Given the description of an element on the screen output the (x, y) to click on. 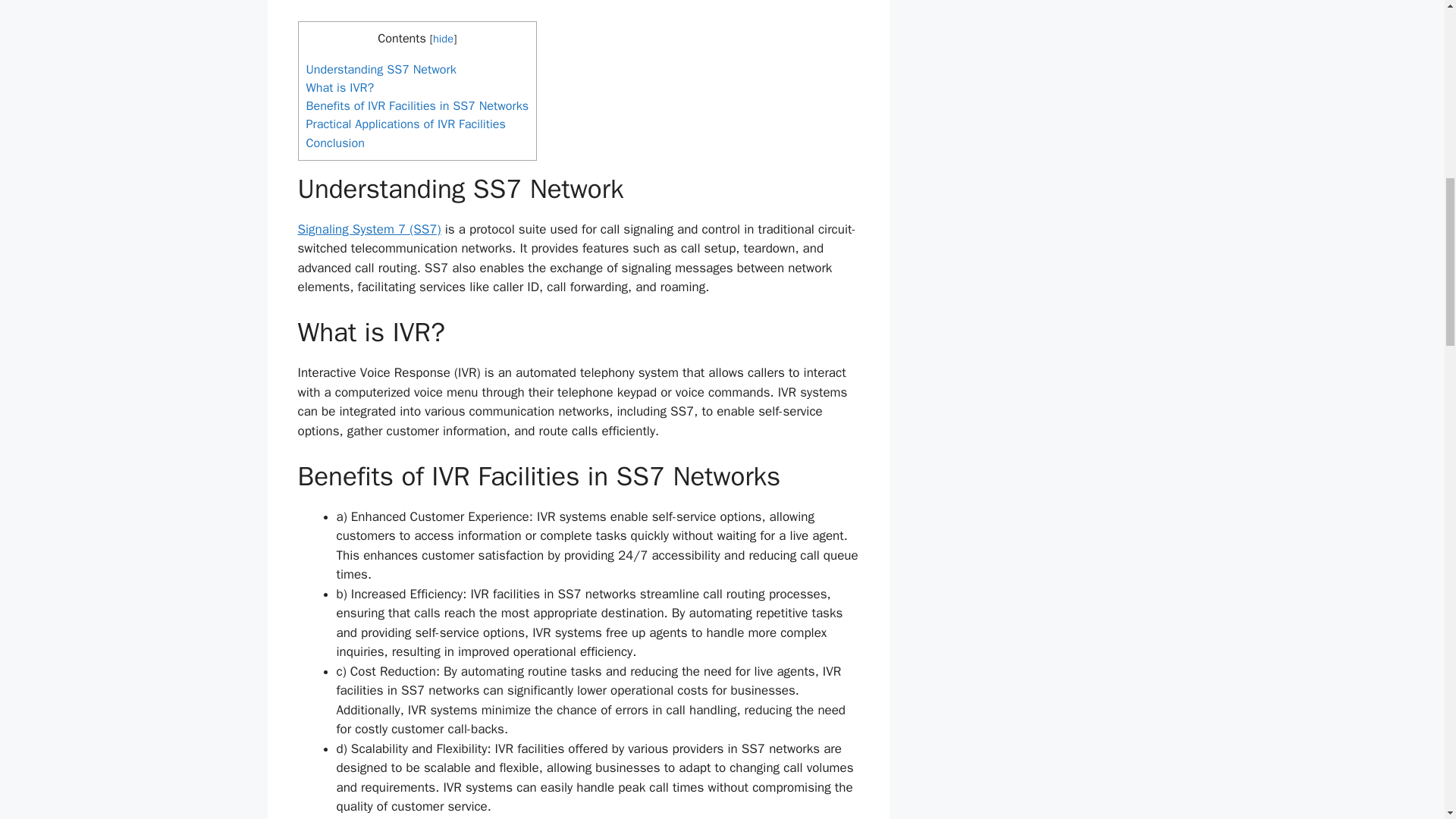
Practical Applications of IVR Facilities (405, 123)
Understanding SS7 Network (381, 68)
Conclusion (335, 142)
hide (442, 38)
What is IVR? (339, 87)
Benefits of IVR Facilities in SS7 Networks (417, 105)
